Given the description of an element on the screen output the (x, y) to click on. 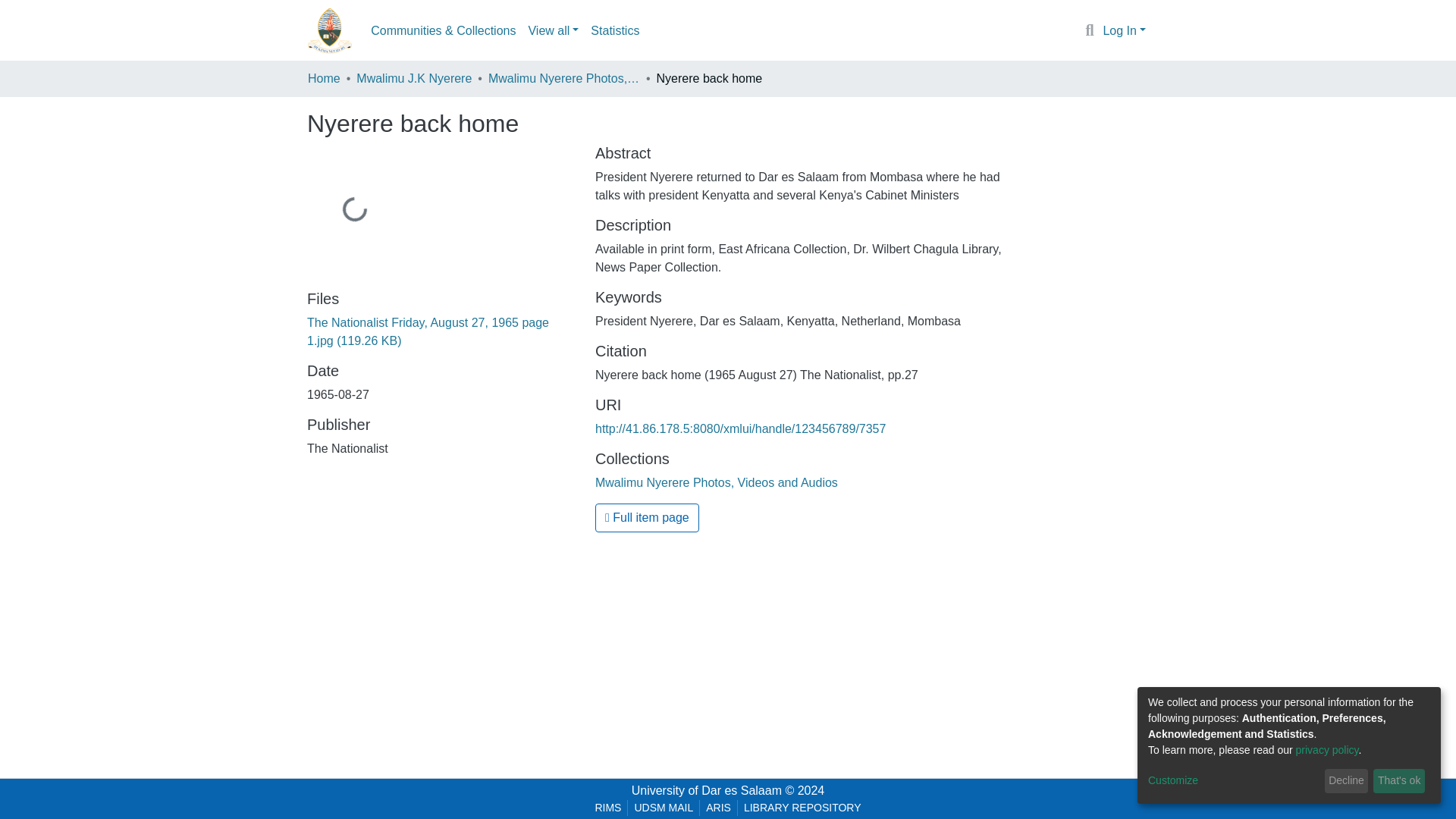
Full item page (646, 517)
ARIS (718, 807)
That's ok (1399, 781)
RIMS (607, 807)
Statistics (615, 30)
Log In (1123, 30)
Statistics (615, 30)
UDSM MAIL (662, 807)
Mwalimu Nyerere Photos, Videos and Audios (563, 78)
LIBRARY REPOSITORY (802, 807)
Search (1088, 30)
Customize (1233, 780)
privacy policy (1326, 749)
View all (553, 30)
Home (323, 78)
